Given the description of an element on the screen output the (x, y) to click on. 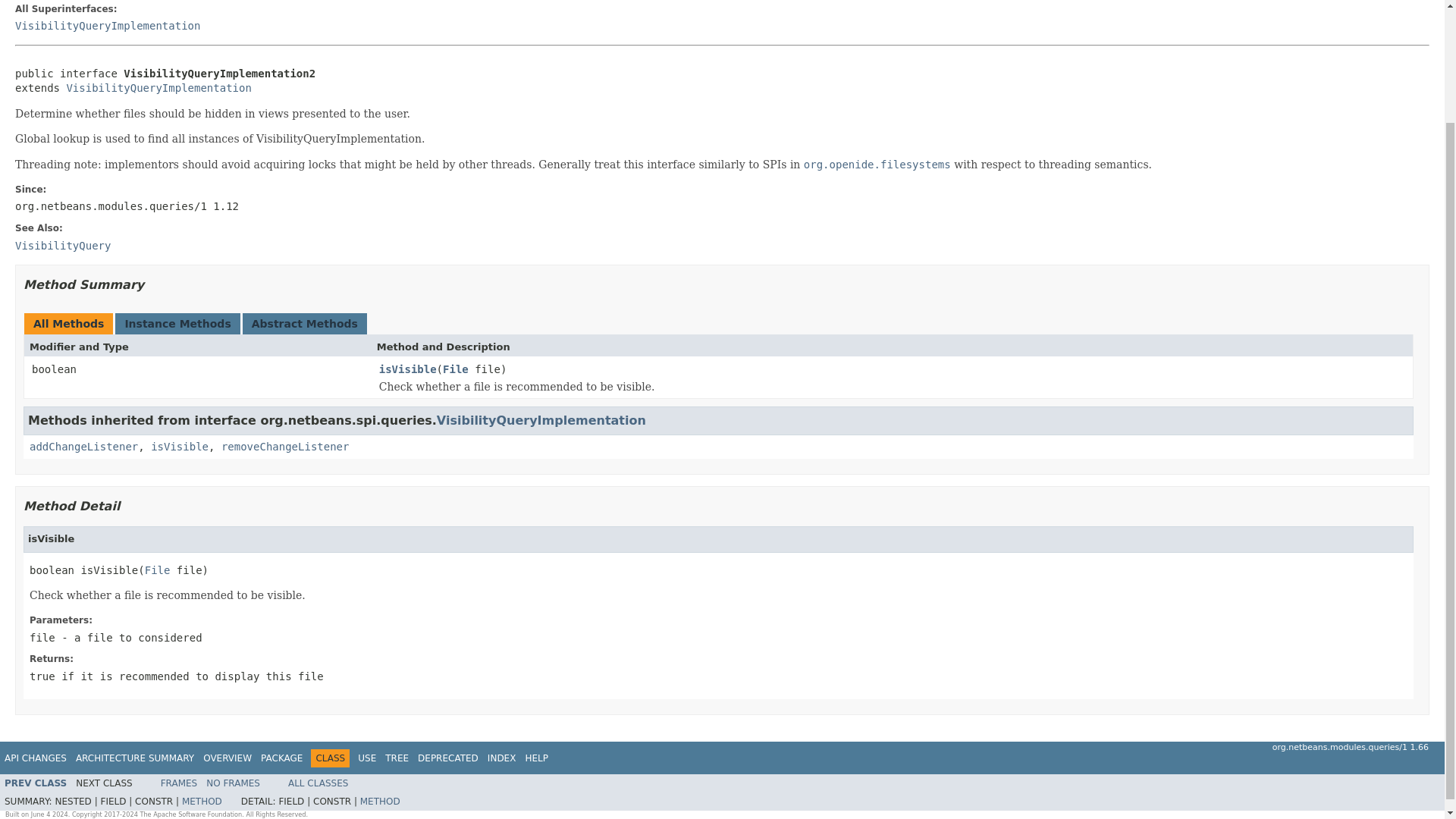
class or interface in java.io (157, 570)
org.openide.filesystems (876, 164)
Abstract Methods (304, 323)
VisibilityQueryImplementation (541, 420)
interface in org.netbeans.spi.queries (541, 420)
isVisible (407, 370)
File (455, 370)
isVisible (179, 446)
class in org.netbeans.api.queries (62, 245)
interface in org.netbeans.spi.queries (107, 25)
Instance Methods (176, 323)
VisibilityQuery (62, 245)
VisibilityQueryImplementation (157, 87)
interface in org.netbeans.spi.queries (35, 783)
Navigation (276, 758)
